Given the description of an element on the screen output the (x, y) to click on. 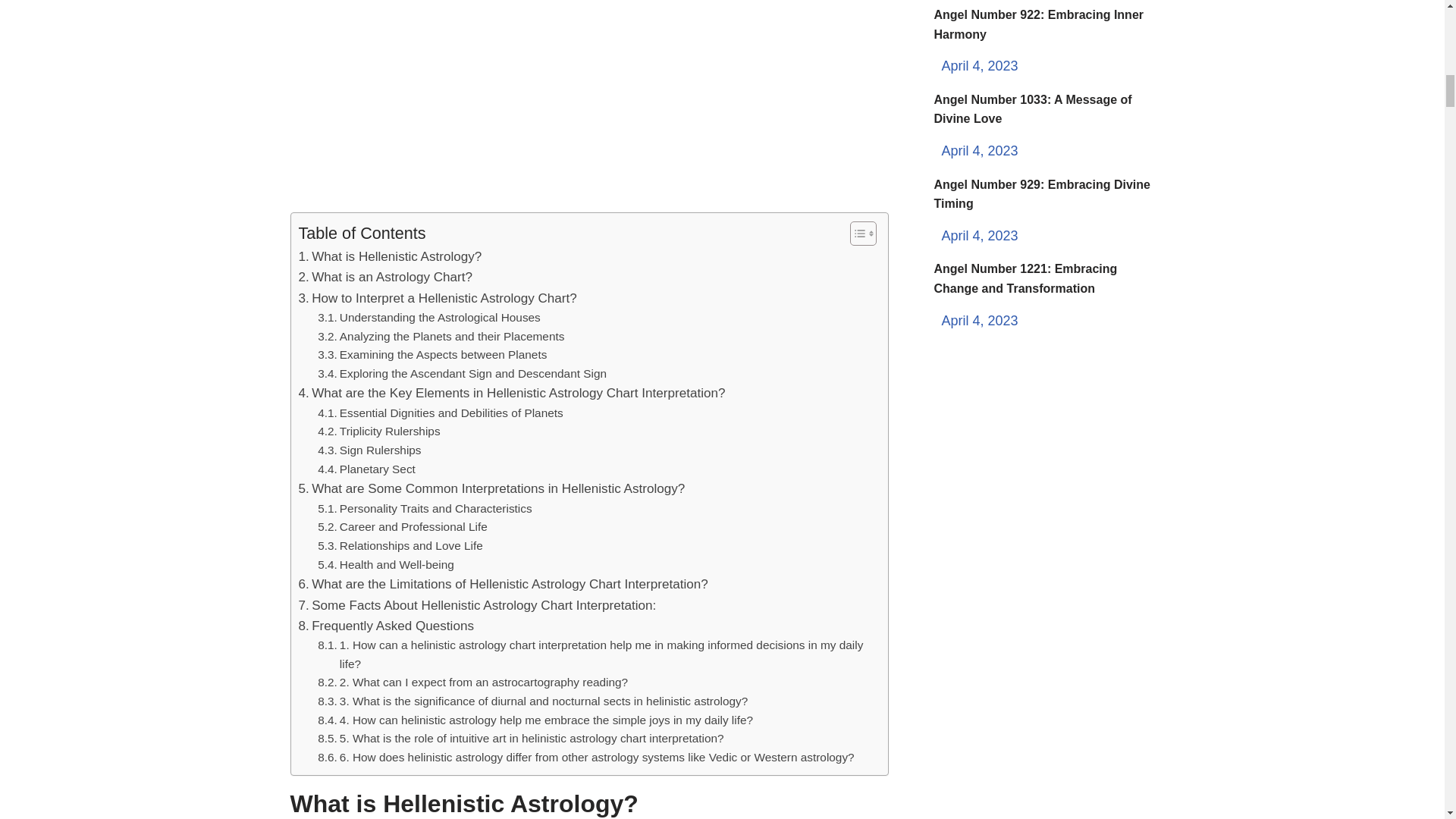
Examining the Aspects between Planets (432, 354)
What is an Astrology Chart? (385, 276)
Analyzing the Planets and their Placements (440, 336)
Personality Traits and Characteristics (424, 508)
Career and Professional Life (402, 527)
What is an Astrology Chart? (385, 276)
Planetary Sect (365, 469)
Analyzing the Planets and their Placements (440, 336)
Exploring the Ascendant Sign and Descendant Sign (462, 374)
